Given the description of an element on the screen output the (x, y) to click on. 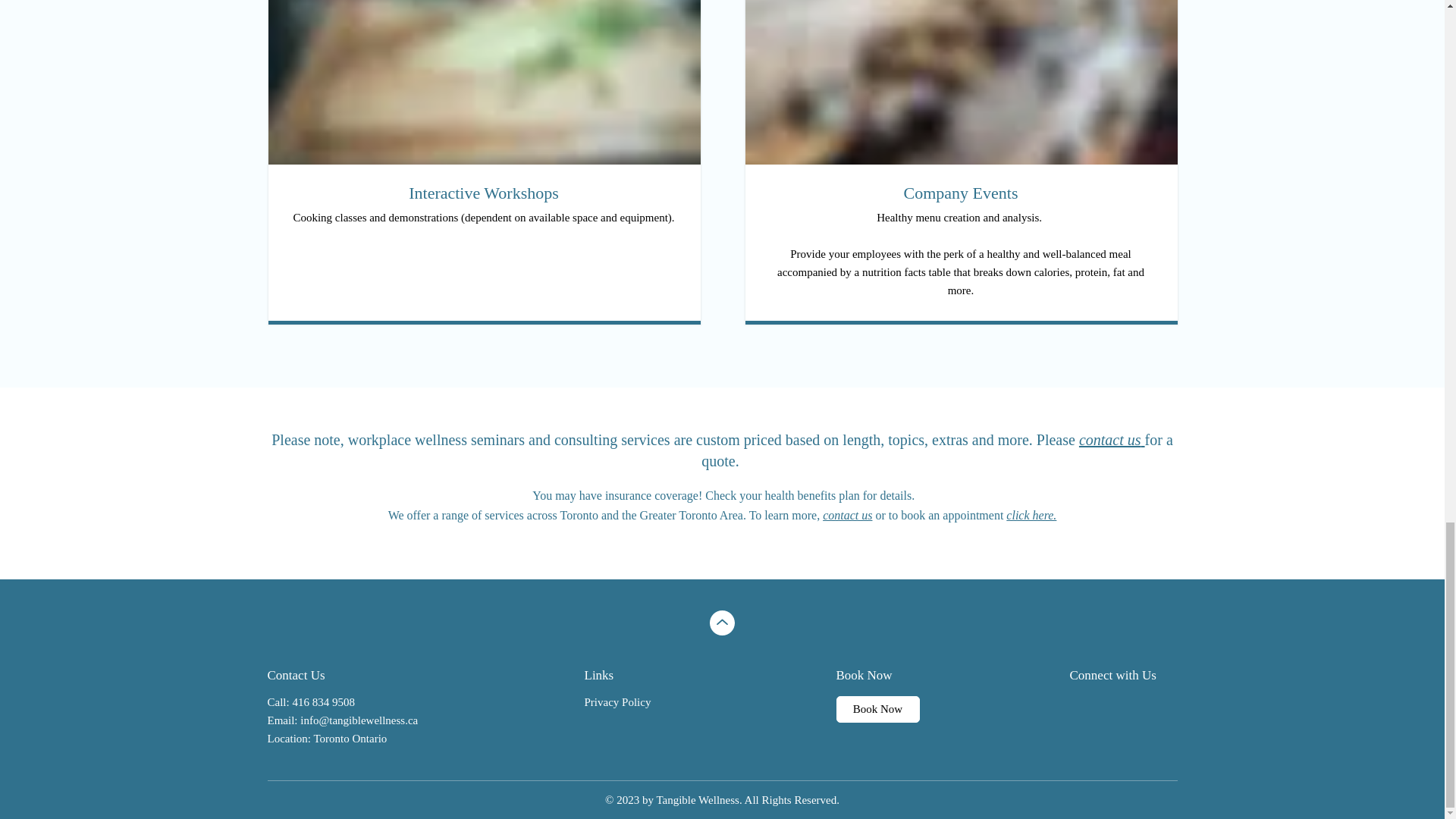
Book Now (876, 709)
contact us (847, 514)
Interactive Workshops (484, 192)
click here. (1031, 514)
Privacy Policy (616, 702)
contact us (1109, 439)
